Given the description of an element on the screen output the (x, y) to click on. 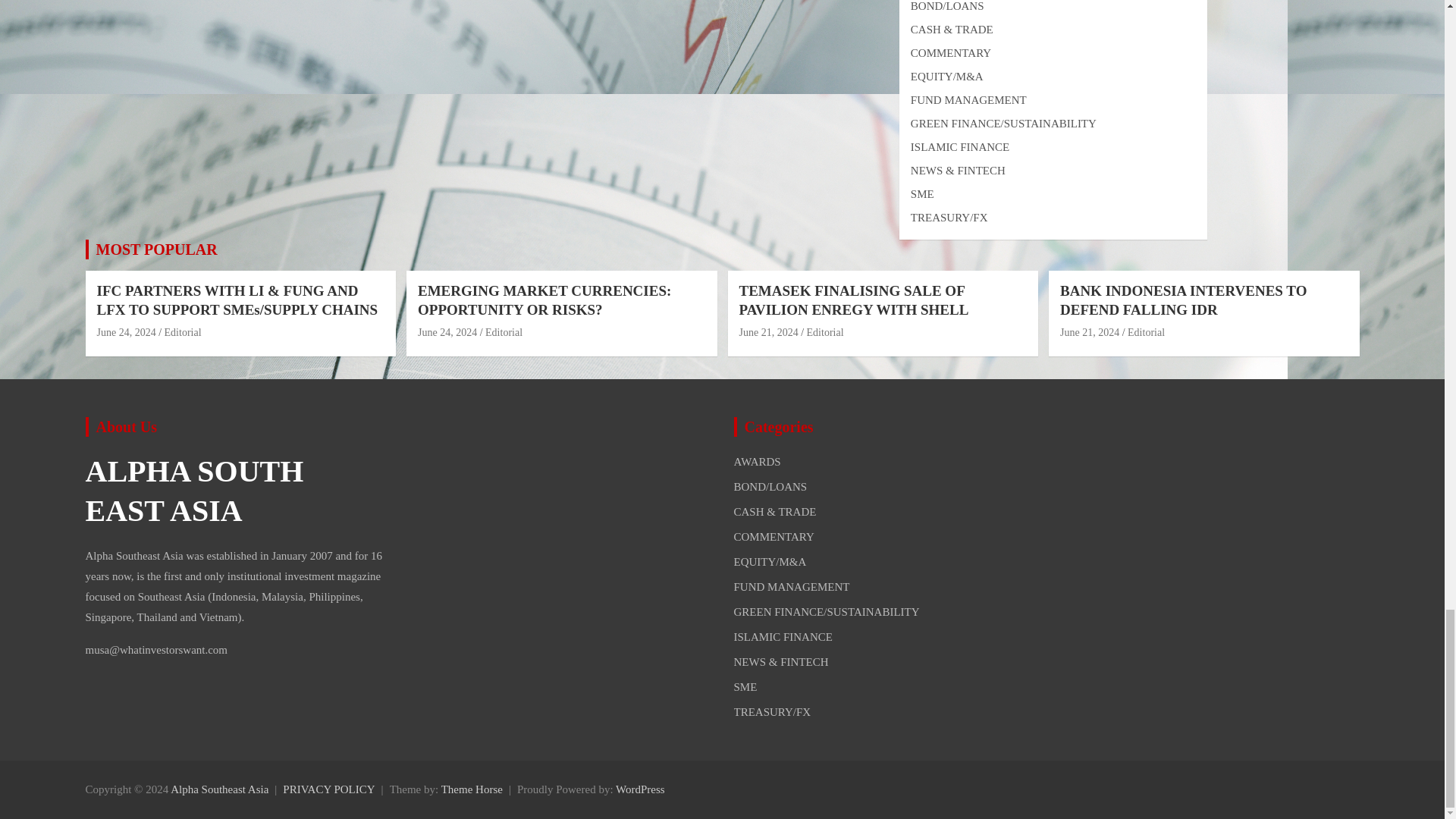
Alpha Southeast Asia (218, 788)
Theme Horse (471, 788)
WordPress (640, 788)
TEMASEK FINALISING SALE OF PAVILION ENREGY WITH SHELL (767, 332)
EMERGING MARKET CURRENCIES: OPPORTUNITY OR RISKS? (447, 332)
BANK INDONESIA INTERVENES TO DEFEND FALLING IDR (1089, 332)
